Given the description of an element on the screen output the (x, y) to click on. 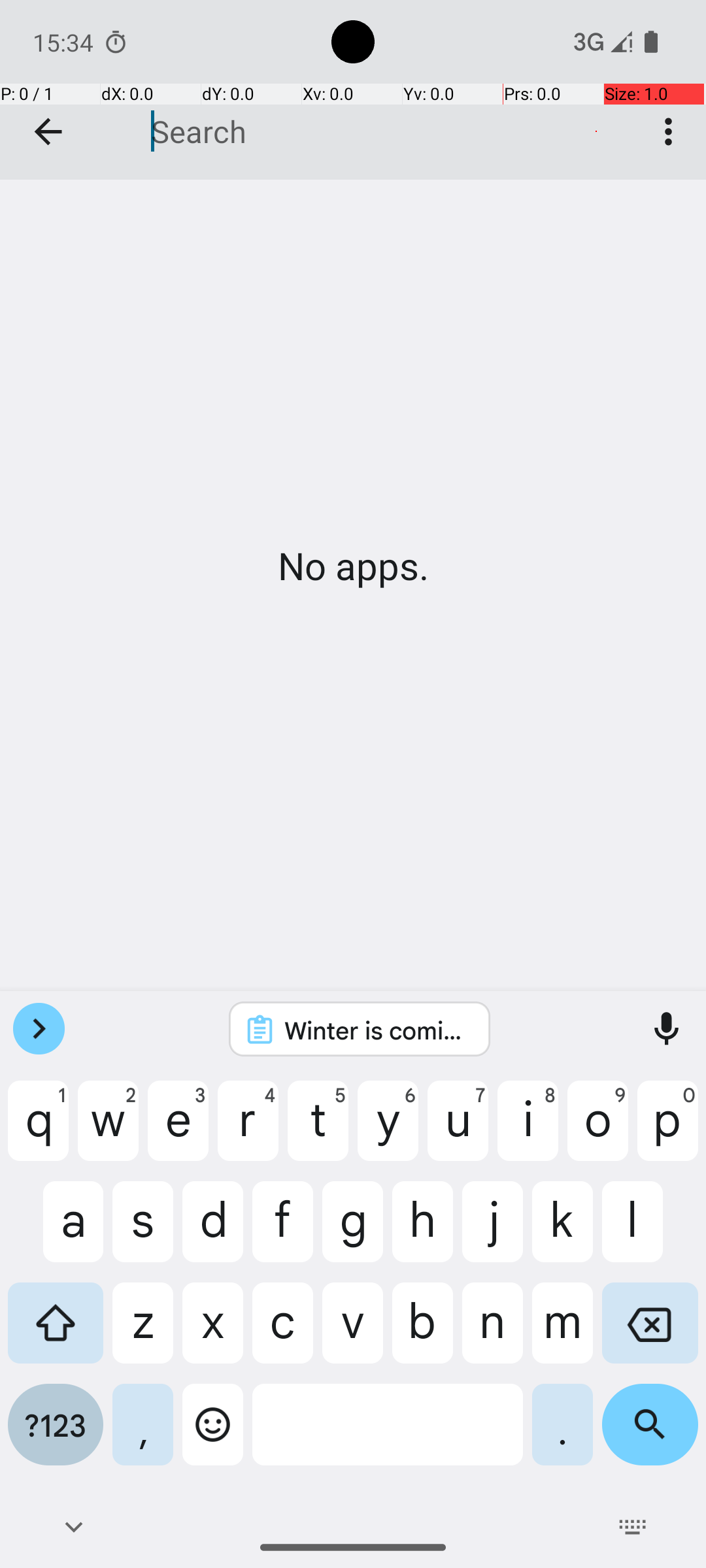
No apps. Element type: android.widget.TextView (353, 565)
Winter is coming. Element type: android.widget.TextView (376, 1029)
